Given the description of an element on the screen output the (x, y) to click on. 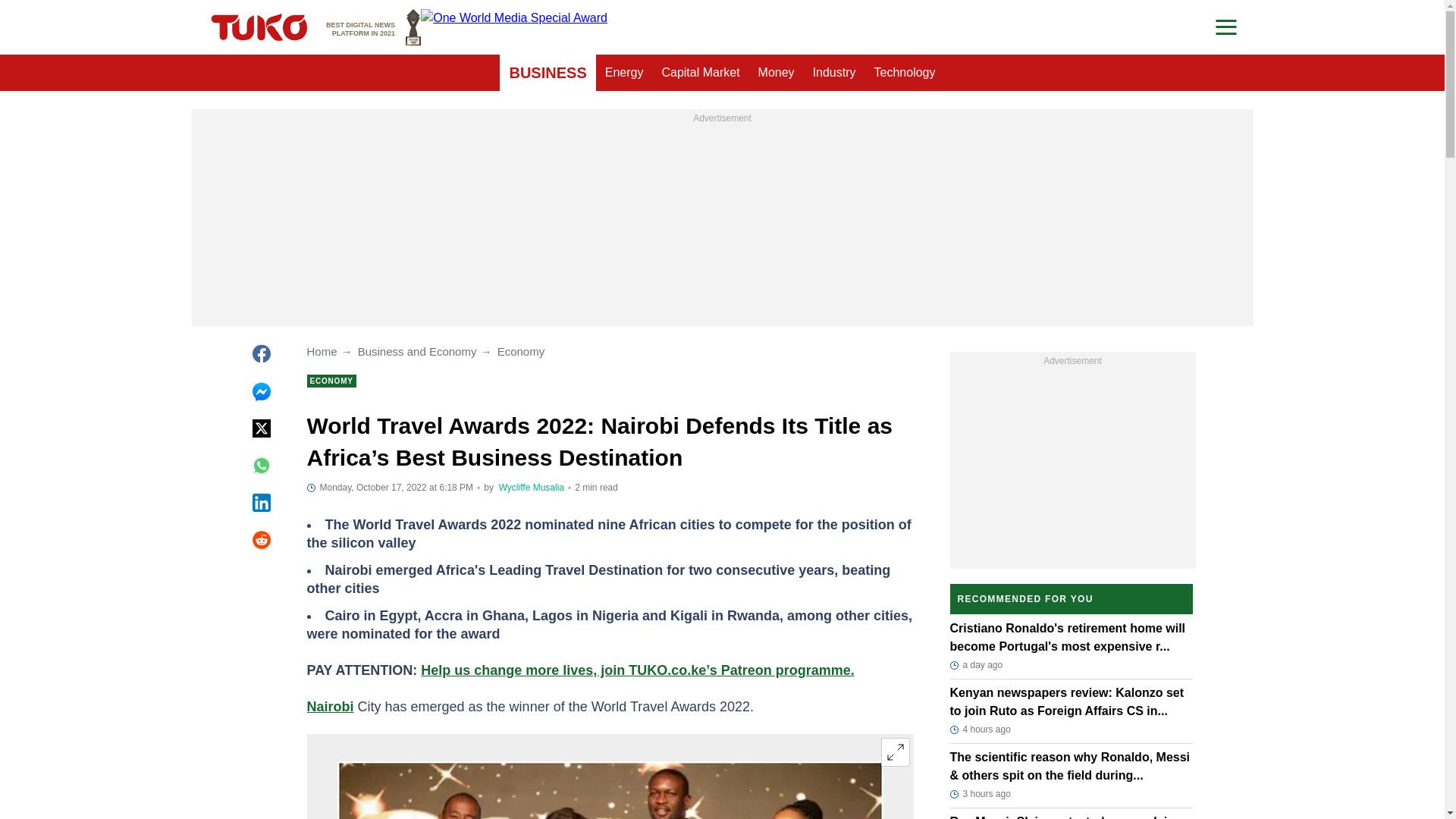
3rd party ad content (1072, 464)
Nairobi has best infrastructural developments in Africa. (609, 790)
Energy (623, 72)
Money (776, 72)
3rd party ad content (721, 221)
Technology (904, 72)
BUSINESS (547, 72)
Capital Market (700, 72)
Expand image (373, 27)
Industry (895, 751)
Author page (833, 72)
